Given the description of an element on the screen output the (x, y) to click on. 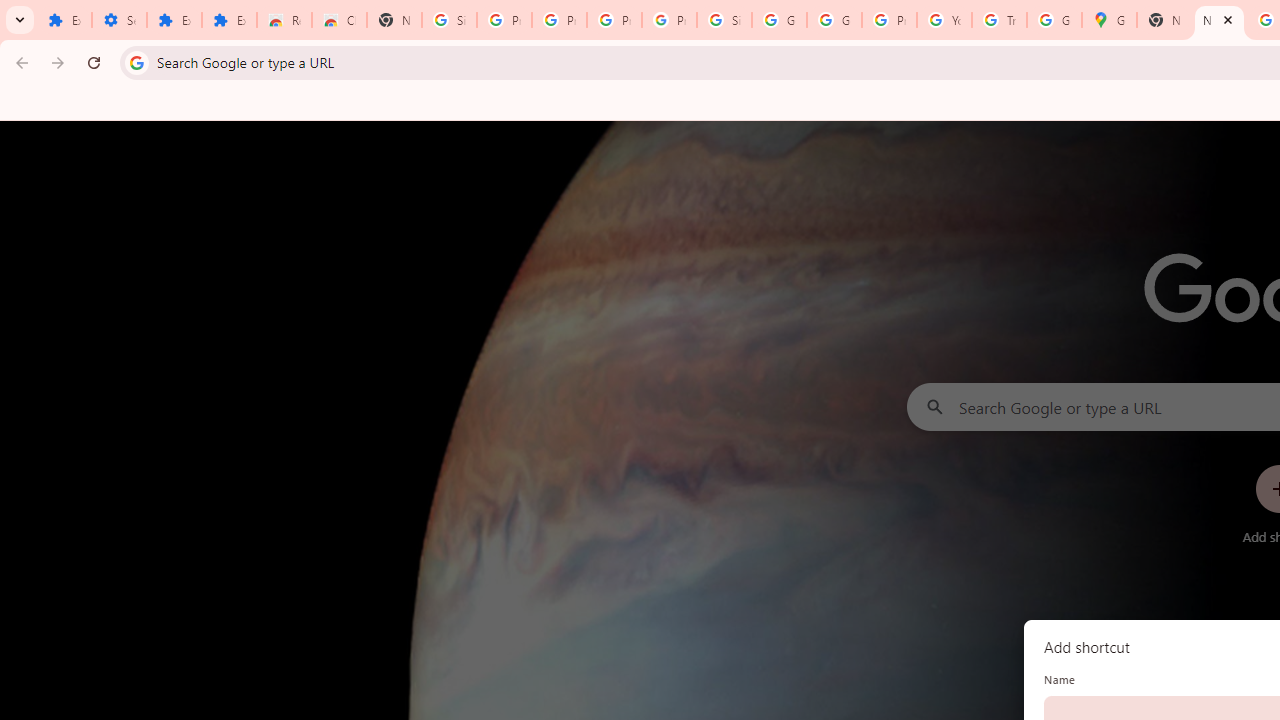
New Tab (1218, 20)
Chrome Web Store - Themes (339, 20)
YouTube (943, 20)
Extensions (229, 20)
Reviews: Helix Fruit Jump Arcade Game (284, 20)
Sign in - Google Accounts (724, 20)
Sign in - Google Accounts (449, 20)
